Given the description of an element on the screen output the (x, y) to click on. 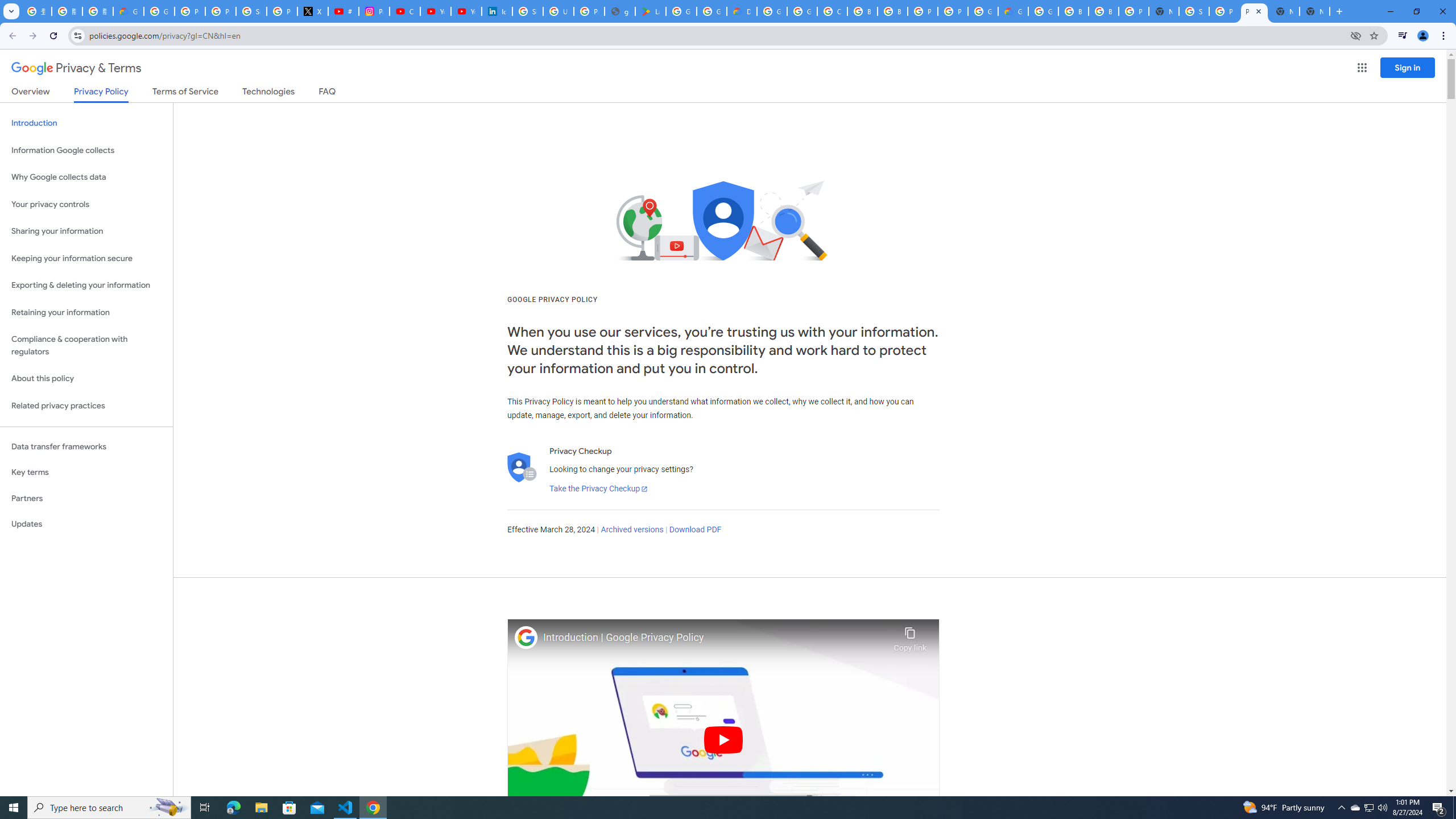
Last Shelter: Survival - Apps on Google Play (650, 11)
X (312, 11)
New Tab (1163, 11)
Related privacy practices (86, 405)
#nbabasketballhighlights - YouTube (343, 11)
Google Cloud Estimate Summary (1012, 11)
Sign in - Google Accounts (1193, 11)
